Given the description of an element on the screen output the (x, y) to click on. 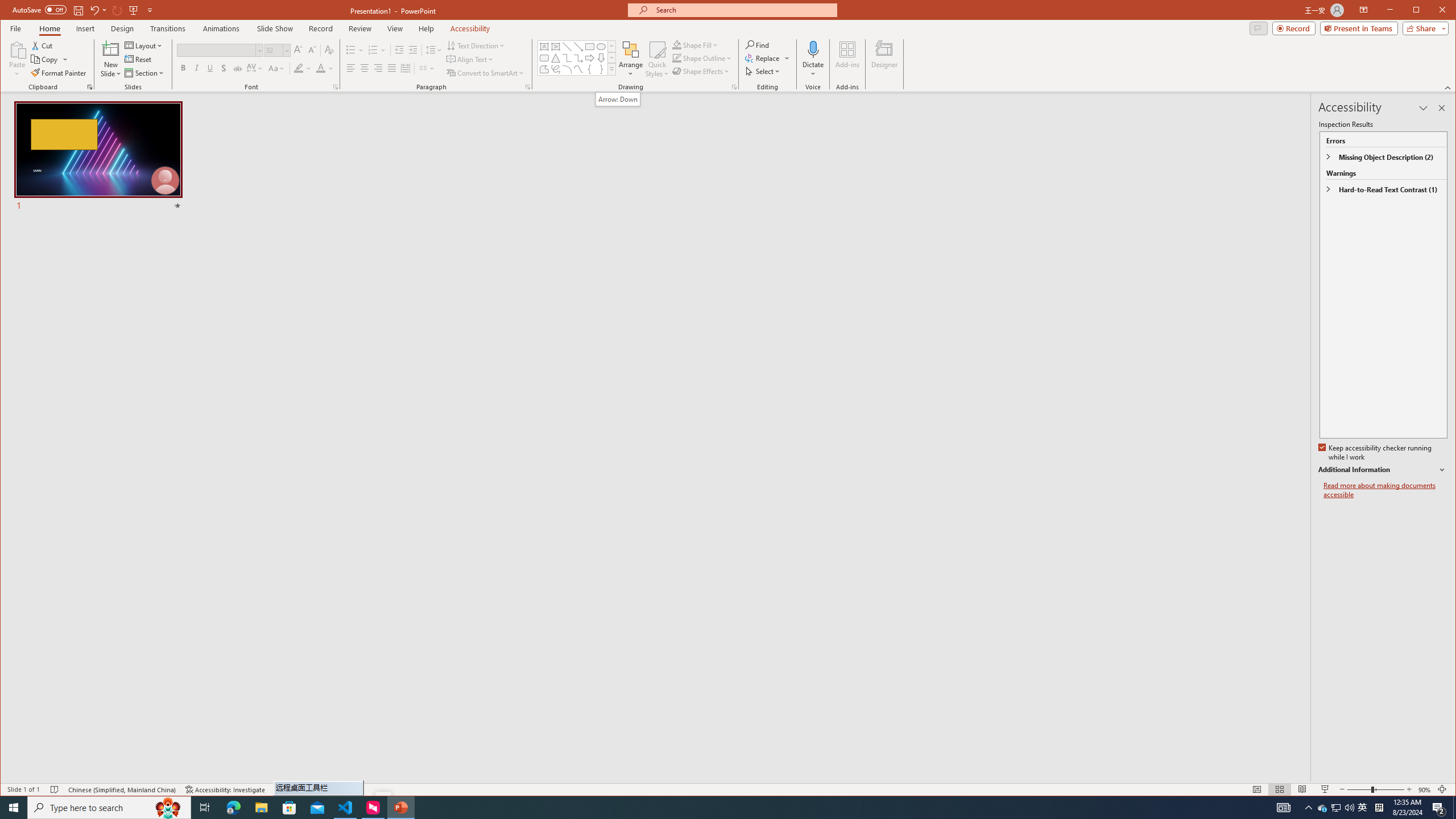
Character Spacing (254, 68)
Additional Information (1382, 469)
Keep accessibility checker running while I work (1375, 452)
Line Spacing (433, 49)
Text Direction (476, 45)
